Given the description of an element on the screen output the (x, y) to click on. 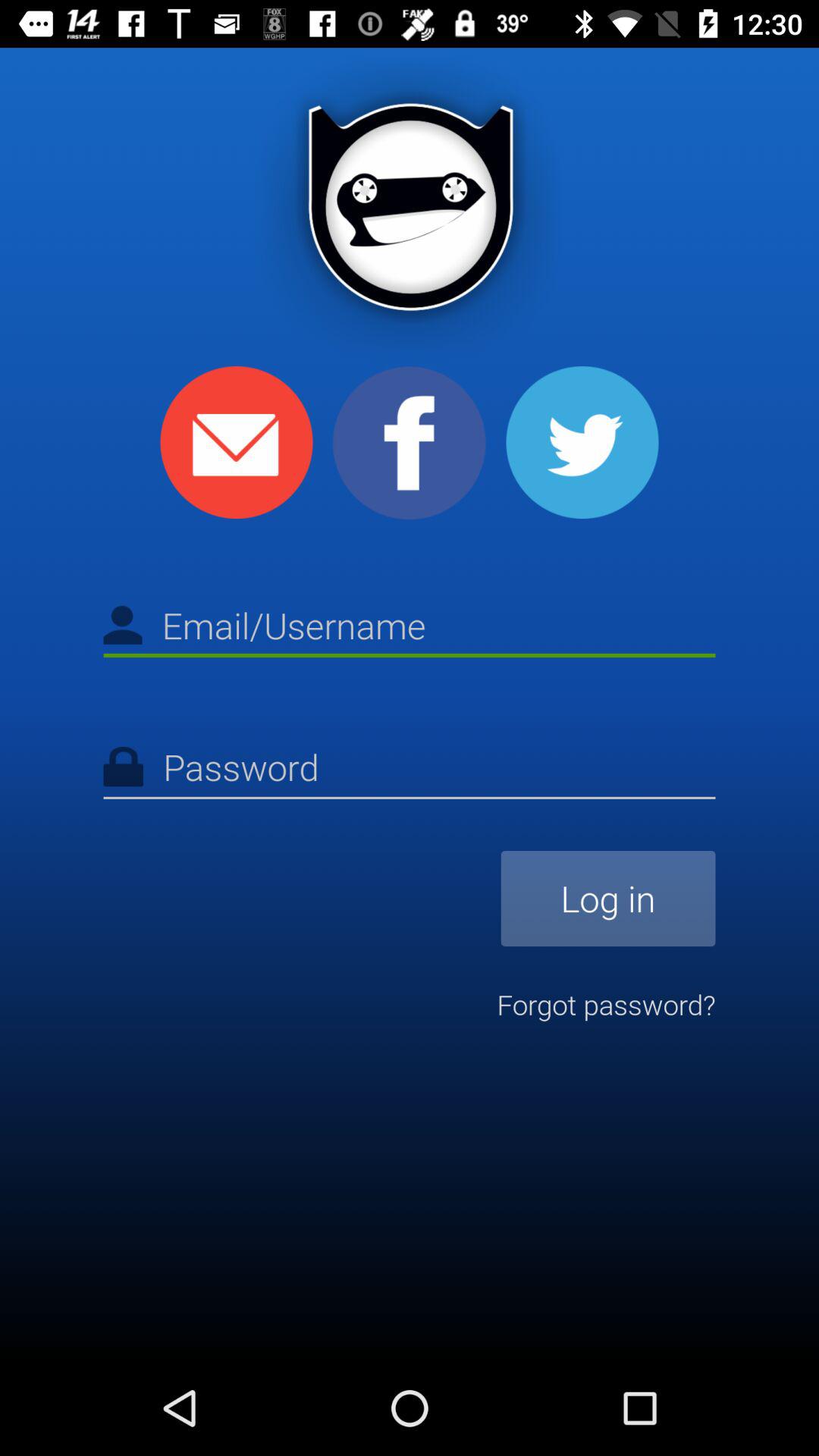
launch forgot password? at the bottom right corner (606, 1004)
